Given the description of an element on the screen output the (x, y) to click on. 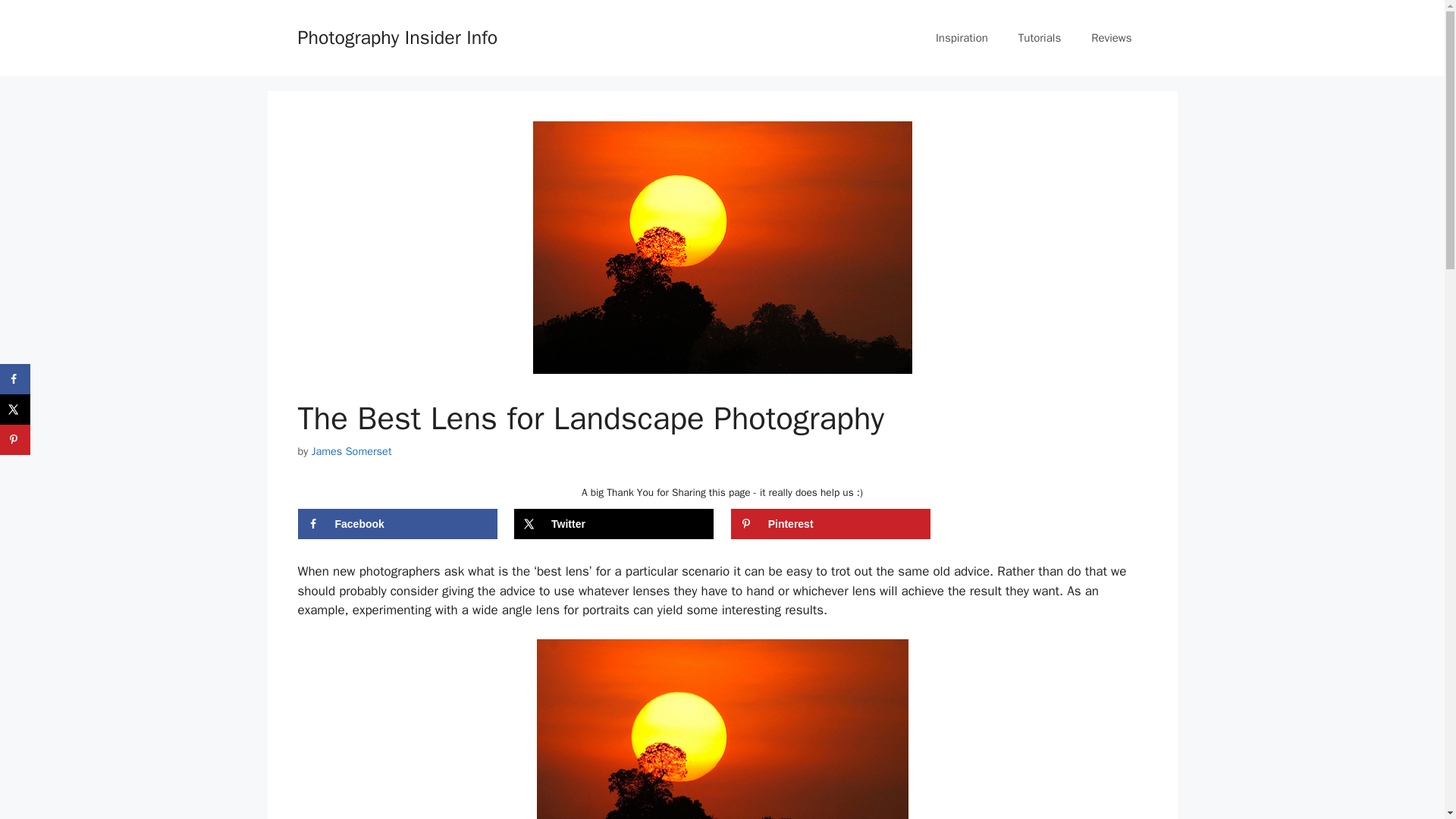
Share on Facebook (396, 523)
James Somerset (351, 450)
Save to Pinterest (15, 440)
Photography Insider Info (397, 37)
Facebook (396, 523)
Twitter (613, 523)
The Best Lens for Landscape Photography (722, 729)
Pinterest (830, 523)
Share on X (613, 523)
Tutorials (1039, 37)
